Given the description of an element on the screen output the (x, y) to click on. 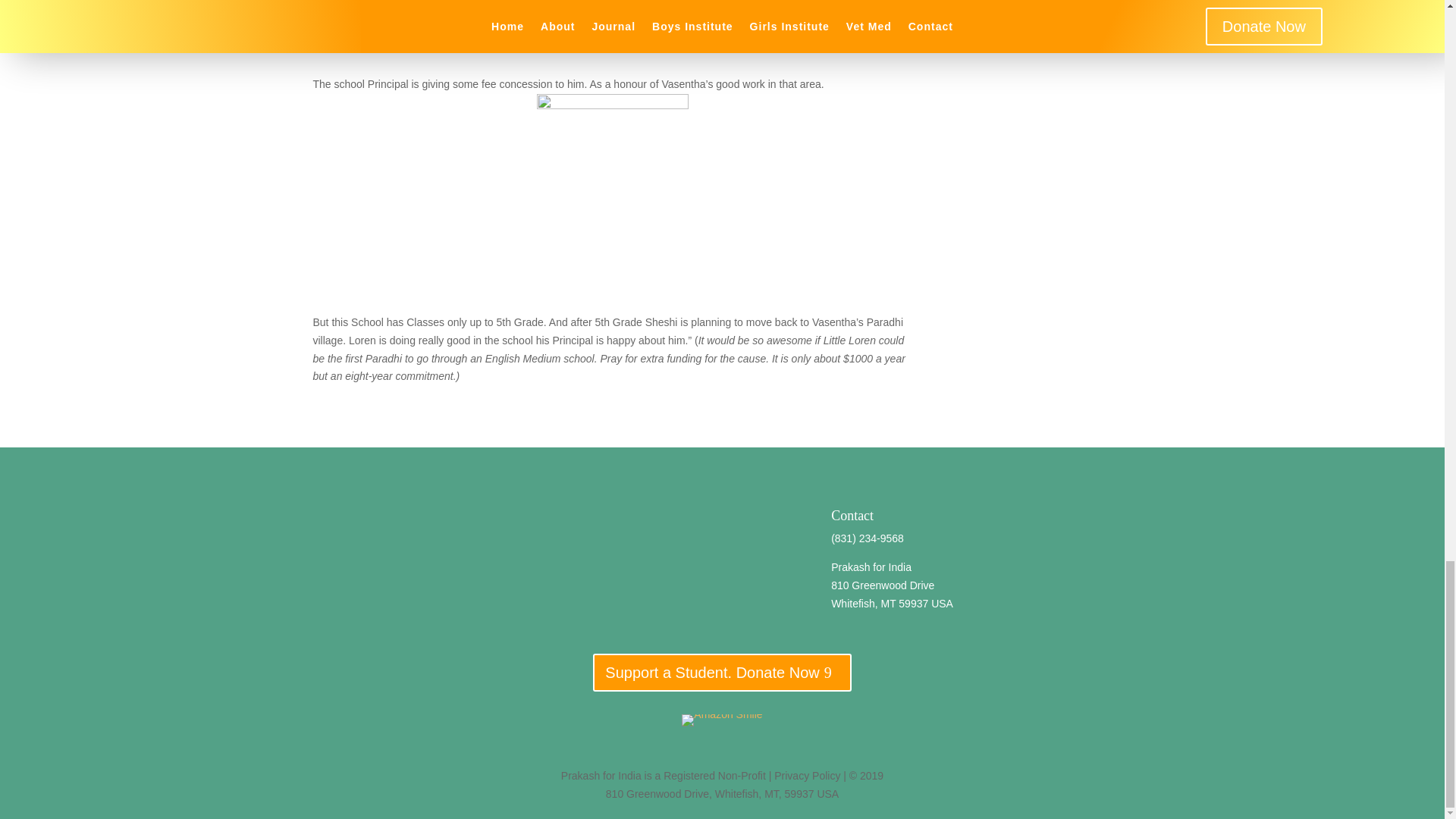
Support a Student. Donate Now (721, 672)
Amazon Smile (721, 720)
